Given the description of an element on the screen output the (x, y) to click on. 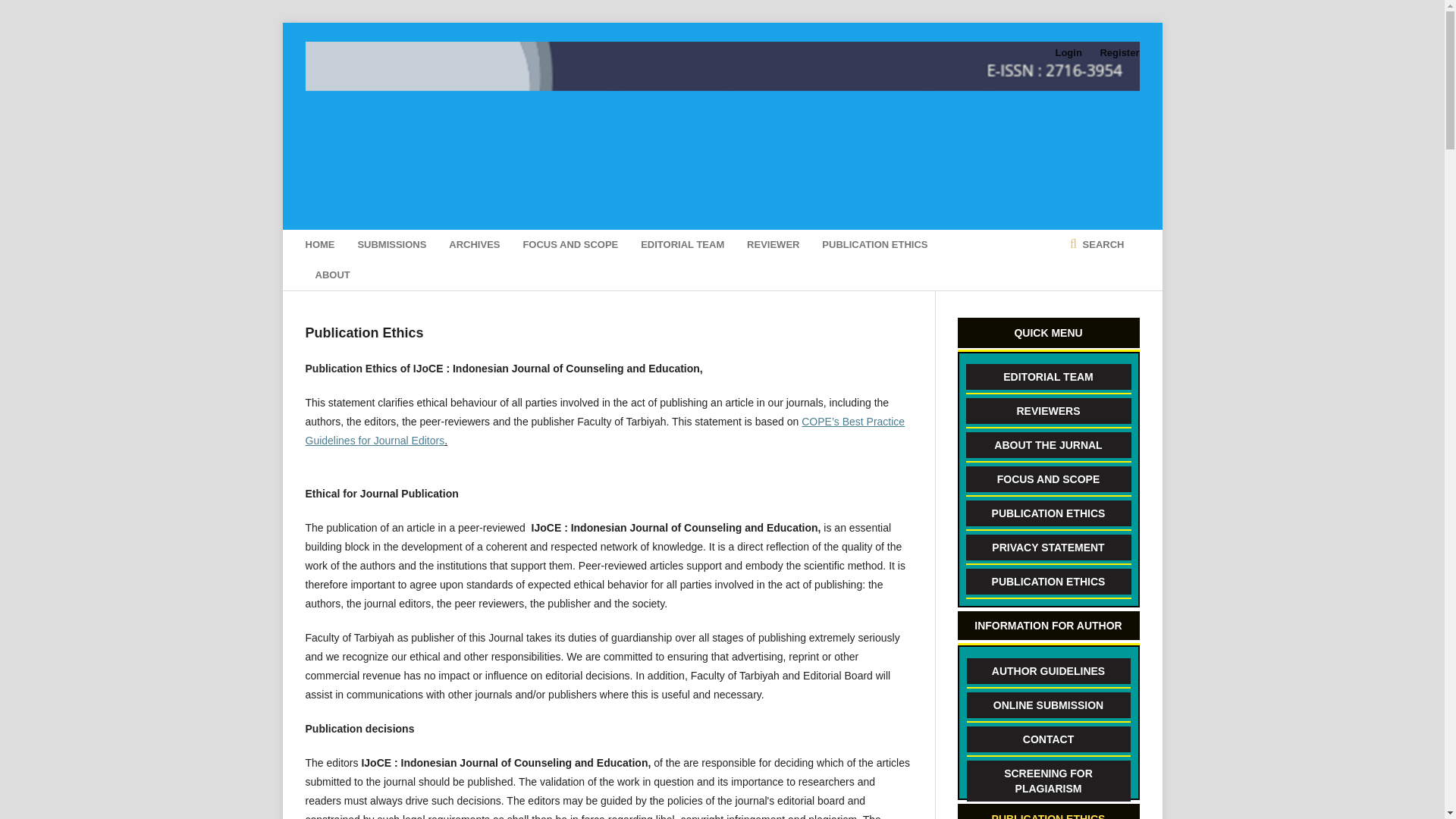
PUBLICATION ETHICS (1048, 513)
INFORMATION FOR AUTHOR (1047, 624)
ARCHIVES (473, 245)
SCREENING FOR PLAGIARISM (1047, 780)
Register (1115, 52)
FOCUS AND SCOPE (1048, 479)
PUBLICATION ETHICS (1048, 581)
SUBMISSIONS (391, 245)
CONTACT (1047, 739)
REVIEWER (772, 245)
EDITORIAL TEAM (1048, 376)
ABOUT (332, 275)
PRIVACY STATEMENT (1048, 547)
PUBLICATION ETHICS (874, 245)
SEARCH (1096, 245)
